Given the description of an element on the screen output the (x, y) to click on. 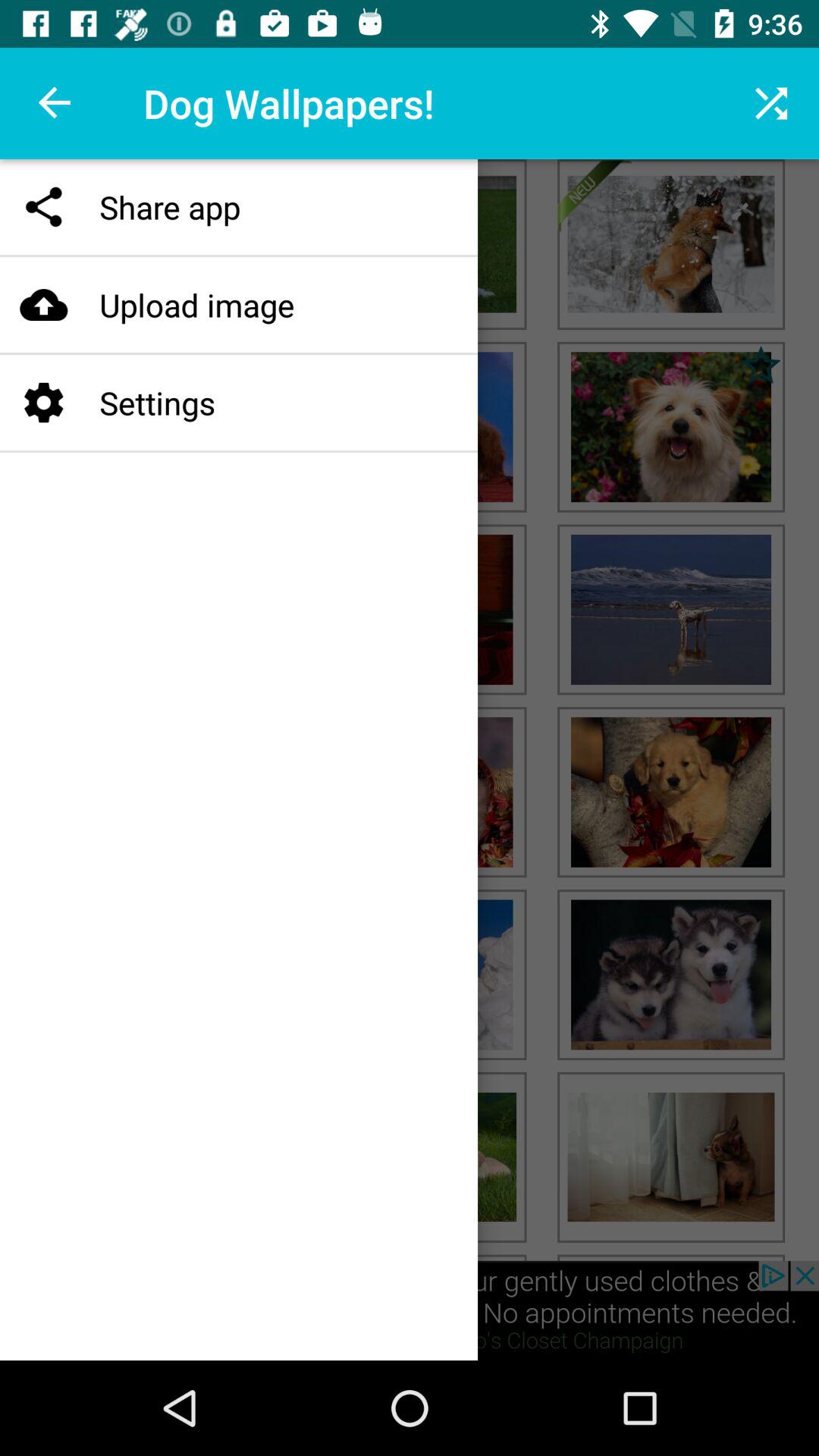
select last but one image (670, 974)
